Given the description of an element on the screen output the (x, y) to click on. 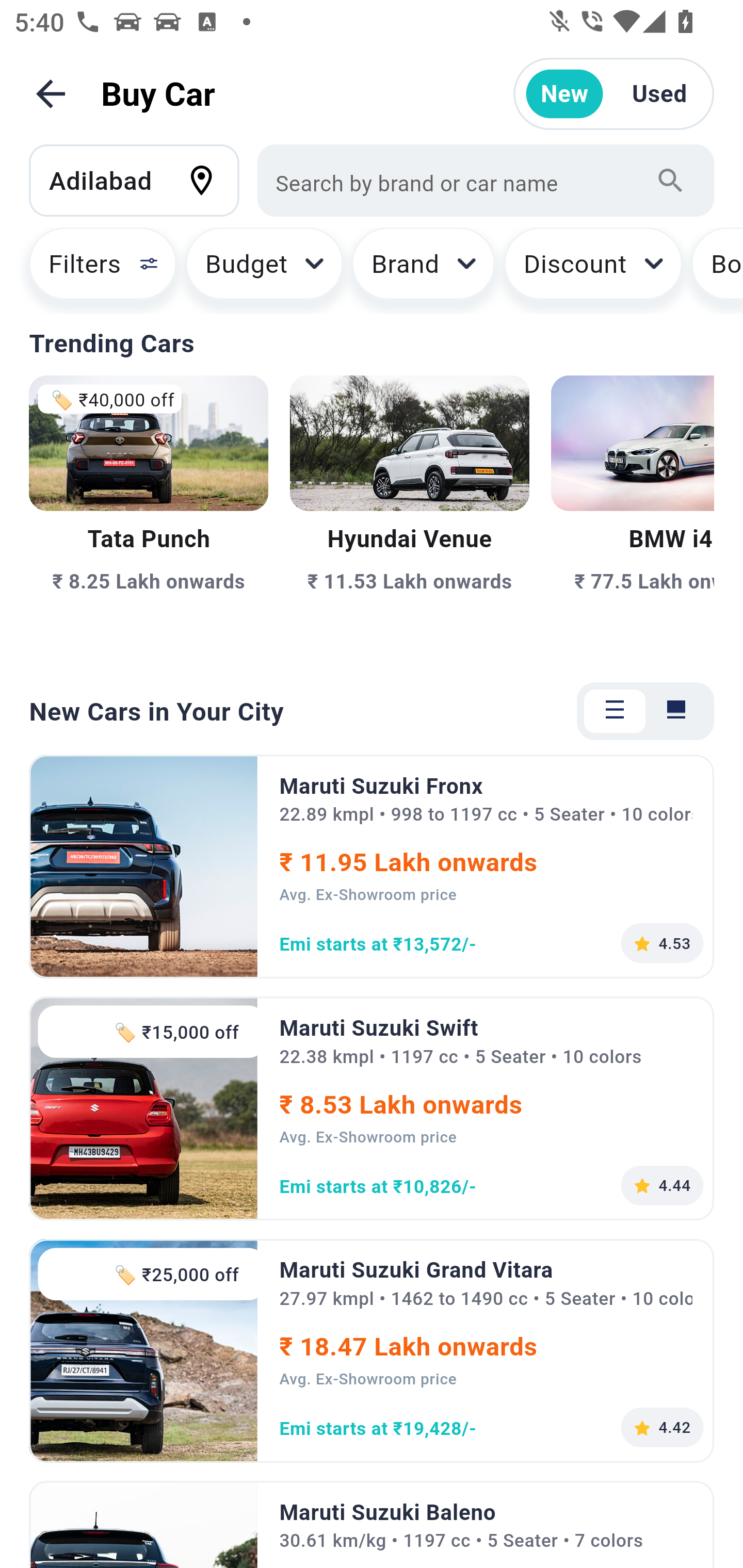
Back (50, 93)
New (564, 93)
Used (659, 93)
Adilabad (142, 180)
Filters (93, 270)
Budget (264, 270)
Brand (423, 270)
Discount (592, 270)
🏷️ ₹40,000 off
₹ 8.25 Lakh onwards Tata Punch (148, 515)
₹ 11.53 Lakh onwards Hyundai Venue (409, 515)
₹ 77.5 Lakh onwards BMW i4 (632, 515)
Tab 1 of 2 (614, 710)
Tab 2 of 2 (675, 710)
